Given the description of an element on the screen output the (x, y) to click on. 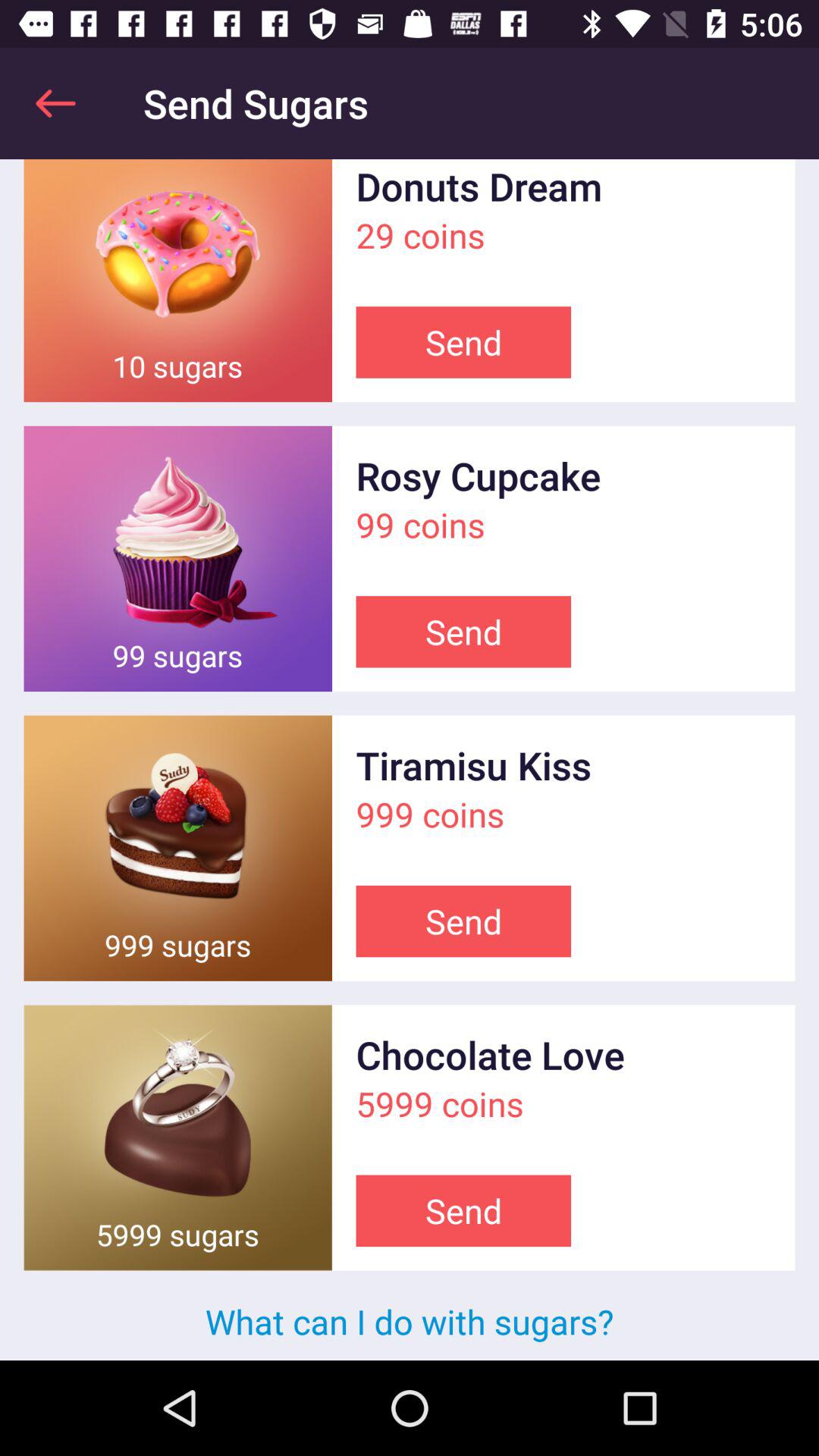
opens a page with more information on the image (177, 848)
